Given the description of an element on the screen output the (x, y) to click on. 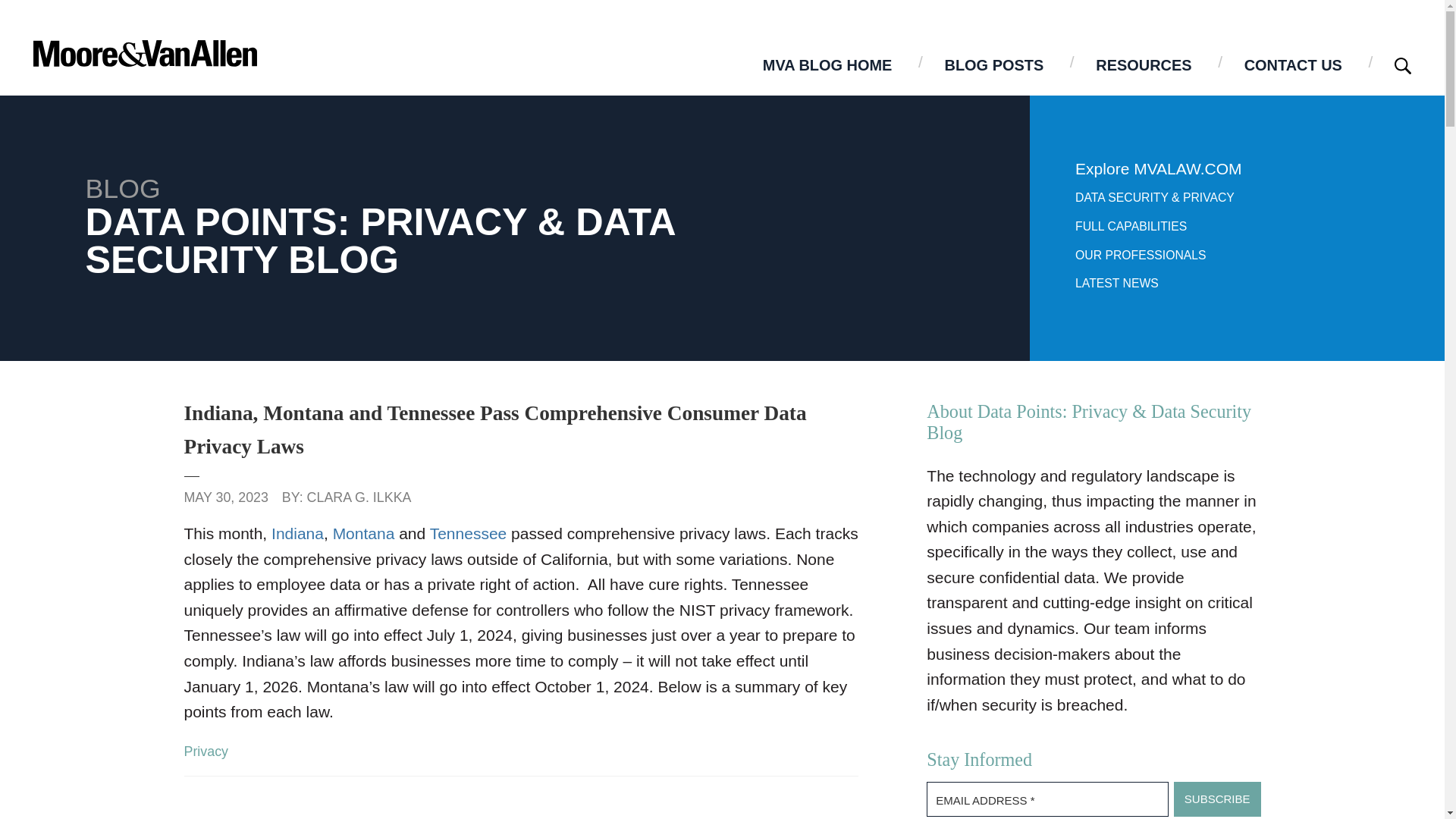
RESOURCES (1143, 64)
Explore MVALAW.COM (1158, 168)
FULL CAPABILITIES (1130, 226)
Main Content (663, 20)
LATEST NEWS (1116, 282)
Privacy (205, 751)
CONTACT US (1292, 64)
OUR PROFESSIONALS (1140, 254)
Menu (671, 20)
Subscribe (1216, 799)
